Given the description of an element on the screen output the (x, y) to click on. 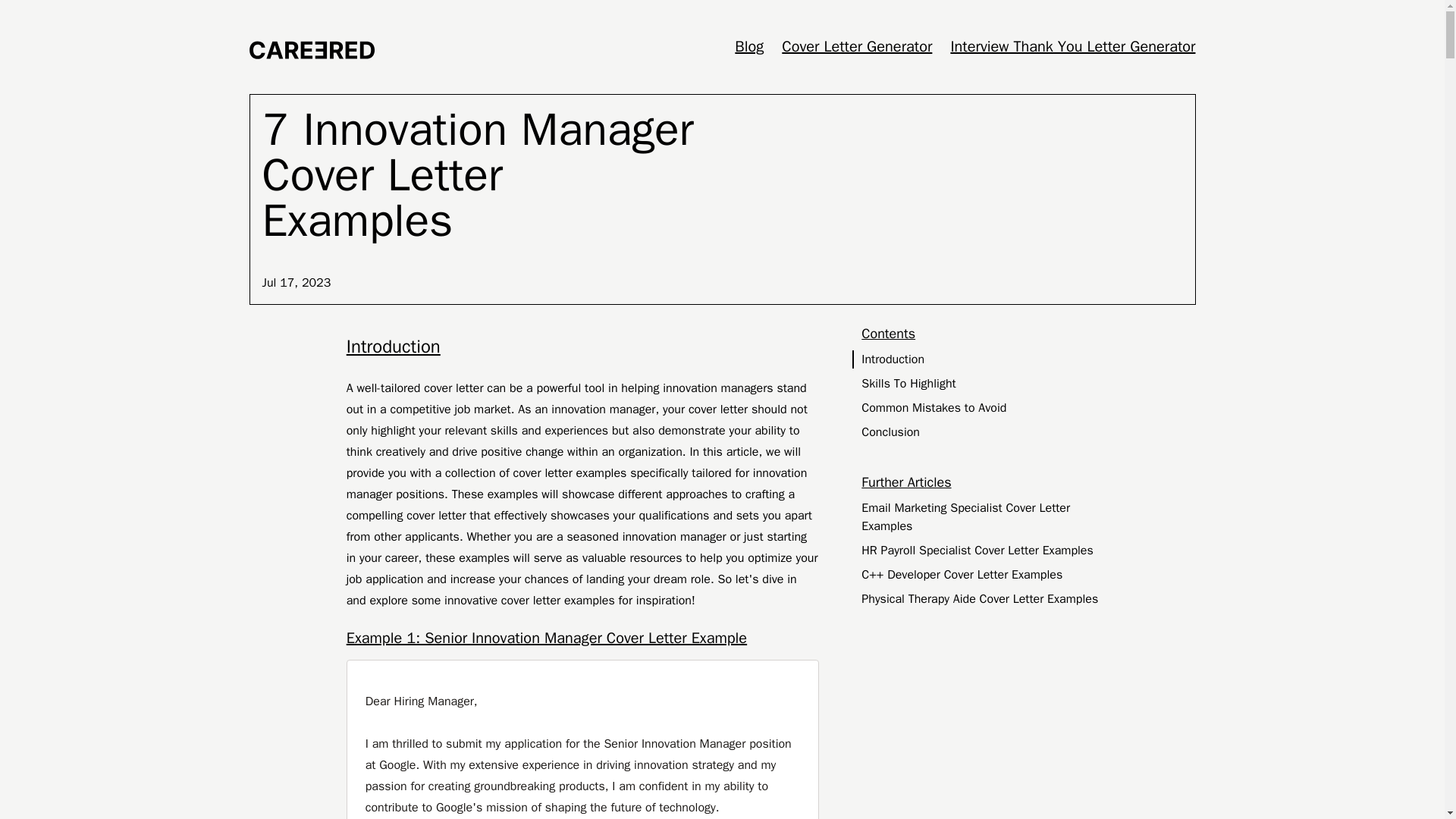
Interview Thank You Letter Generator (1072, 46)
HR Payroll Specialist Cover Letter Examples (982, 550)
Introduction (982, 359)
Cover Letter Generator (856, 46)
Example 1: Senior Innovation Manager Cover Letter Example (582, 638)
Blog (748, 46)
Conclusion (982, 432)
Physical Therapy Aide Cover Letter Examples (982, 598)
Introduction (582, 346)
Skills To Highlight (982, 383)
Email Marketing Specialist Cover Letter Examples (982, 516)
Common Mistakes to Avoid (982, 407)
